Given the description of an element on the screen output the (x, y) to click on. 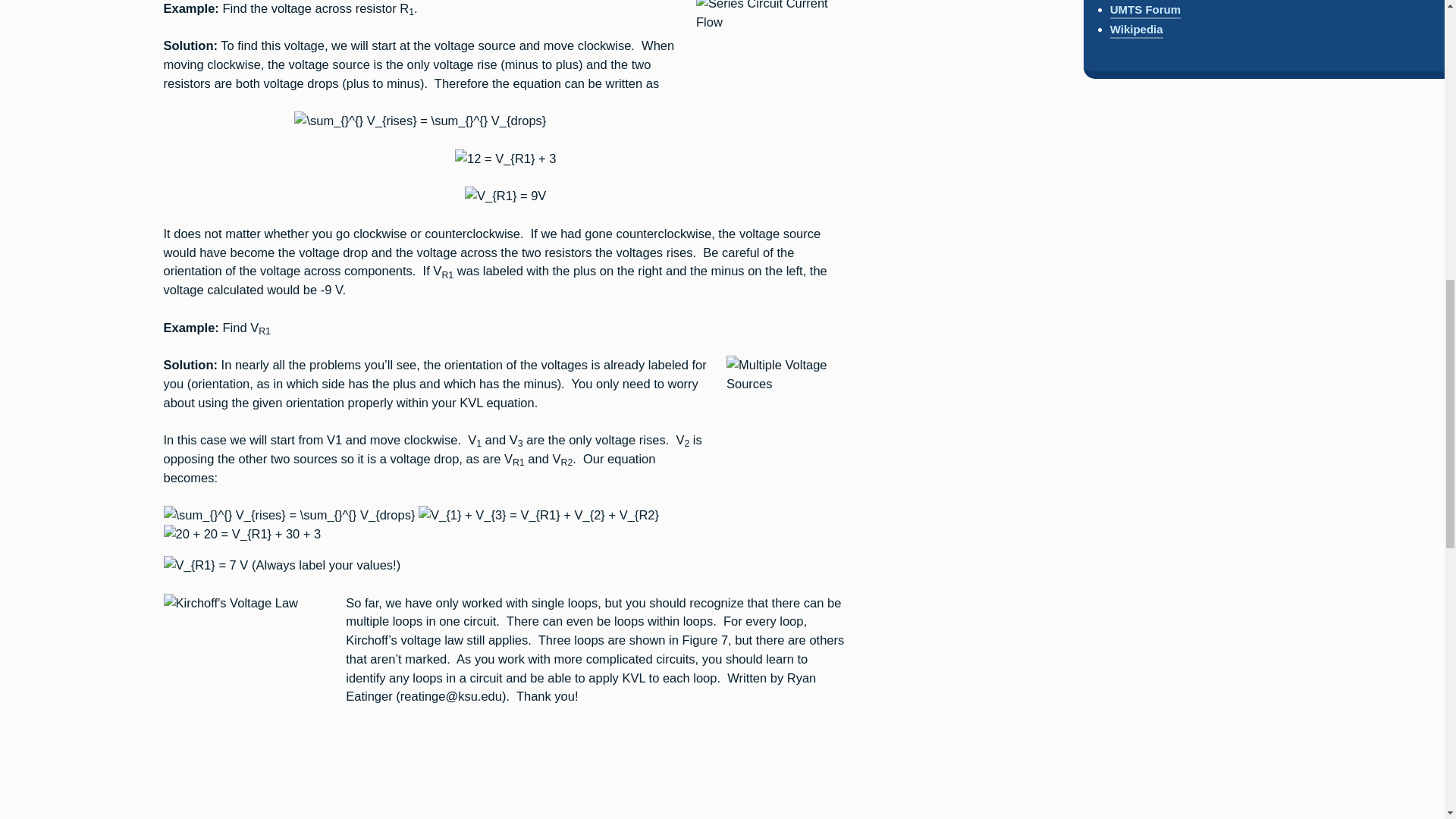
UMTS Forum (1144, 10)
Wikipedia (1136, 30)
Series Circuit Current Flow (771, 69)
Kirchoff's Voltage Law (245, 676)
